Given the description of an element on the screen output the (x, y) to click on. 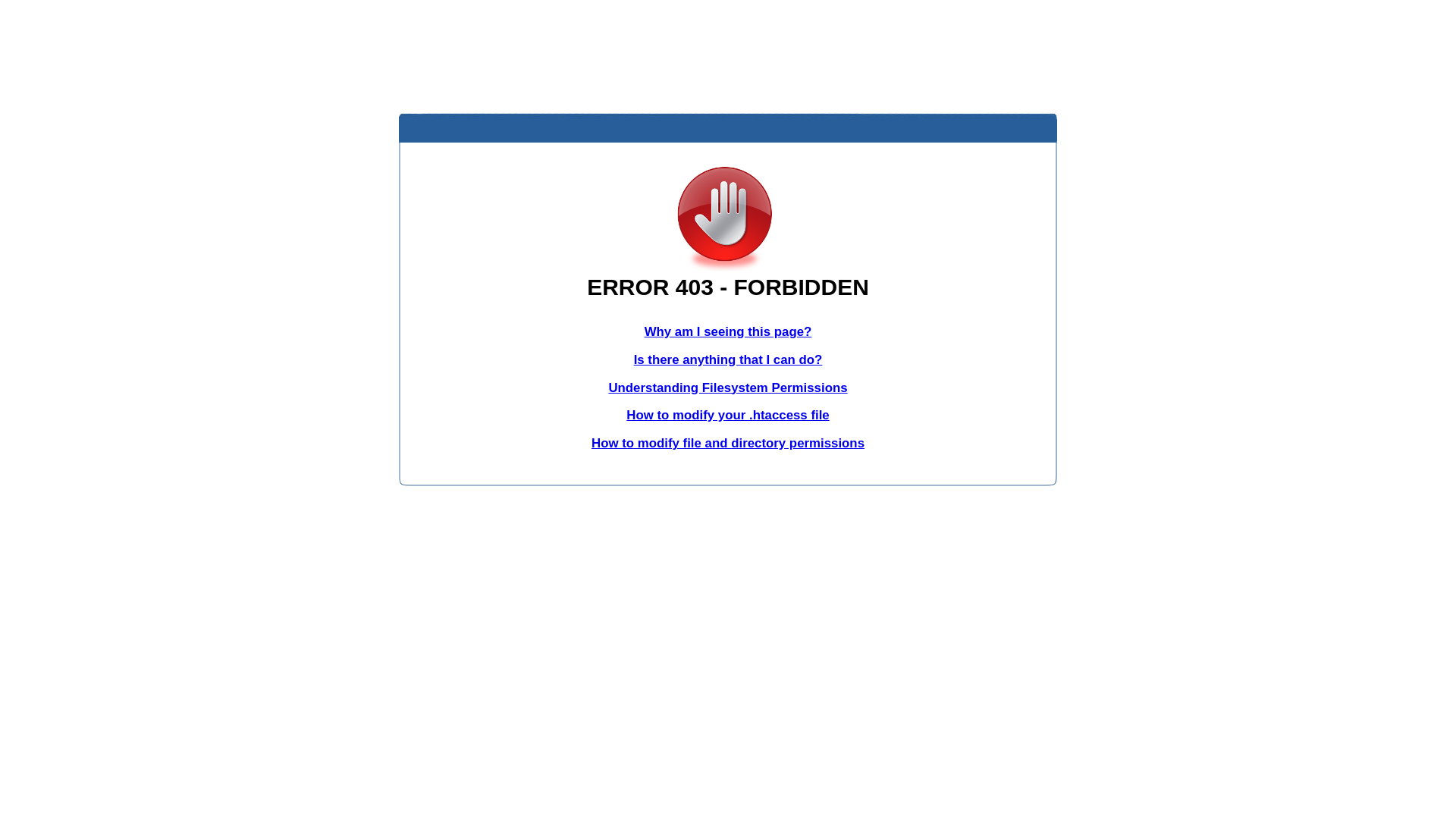
How to modify your .htaccess file Element type: text (727, 414)
Understanding Filesystem Permissions Element type: text (727, 387)
Why am I seeing this page? Element type: text (728, 331)
Is there anything that I can do? Element type: text (727, 359)
How to modify file and directory permissions Element type: text (727, 443)
